Given the description of an element on the screen output the (x, y) to click on. 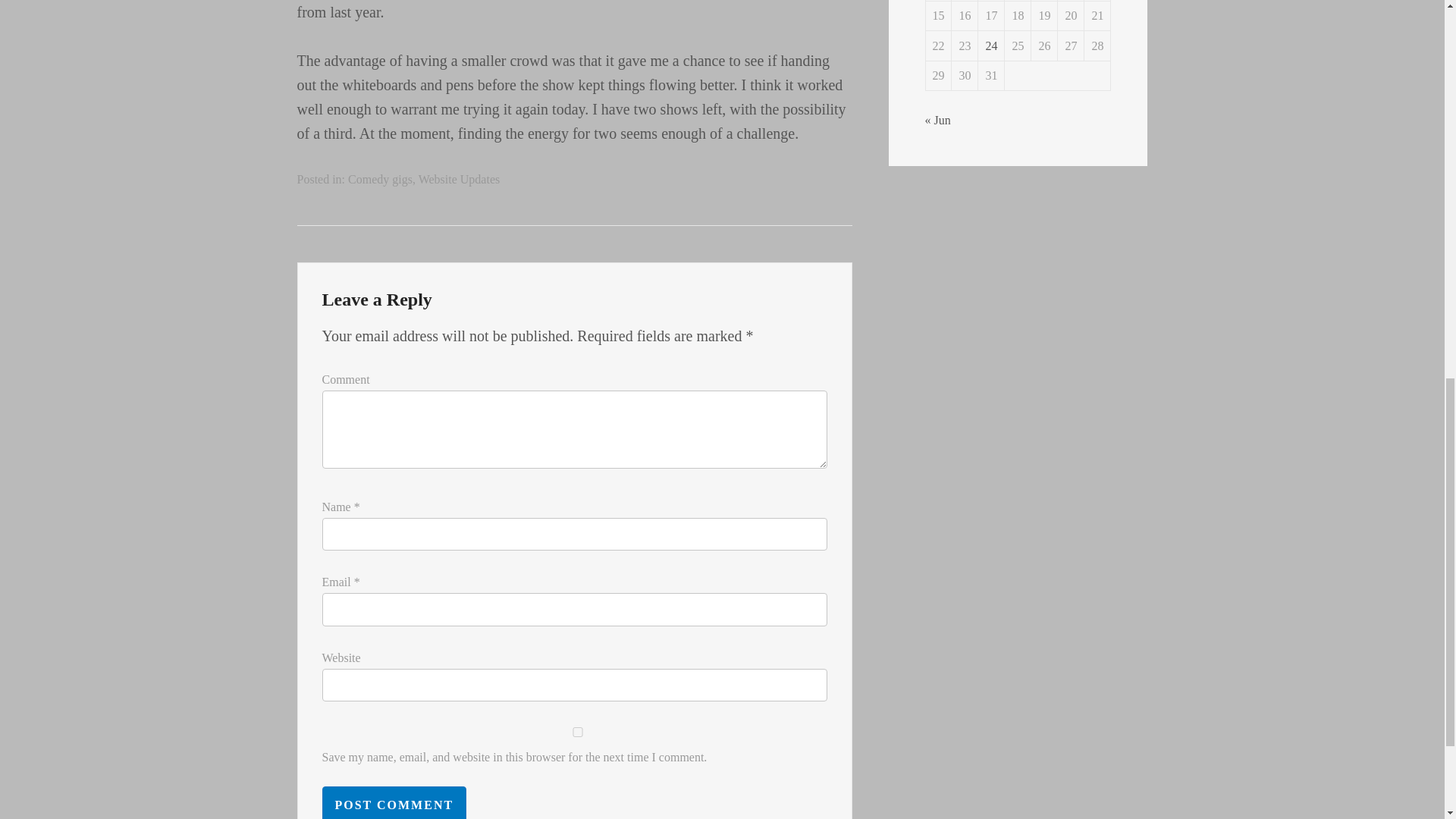
Website Updates (459, 178)
24 (991, 45)
Comedy gigs (379, 178)
Post Comment (393, 802)
yes (576, 732)
Post Comment (393, 802)
